Given the description of an element on the screen output the (x, y) to click on. 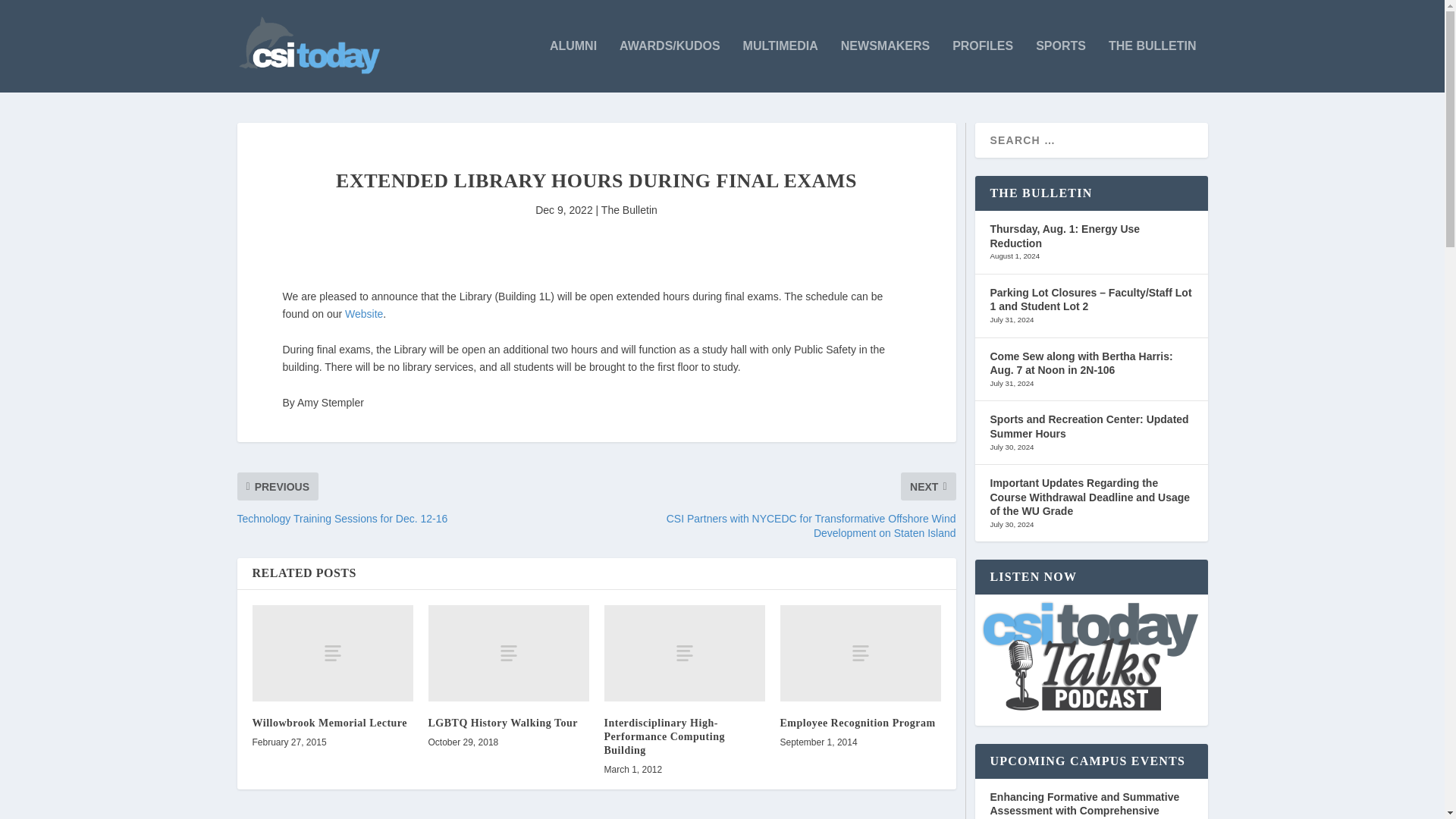
MULTIMEDIA (780, 66)
Interdisciplinary High-Performance Computing Building (684, 653)
LGBTQ History Walking Tour (508, 653)
Employee Recognition Program (859, 653)
NEWSMAKERS (885, 66)
THE BULLETIN (1152, 66)
PROFILES (982, 66)
Willowbrook Memorial Lecture (331, 653)
SPORTS (1060, 66)
ALUMNI (573, 66)
